Given the description of an element on the screen output the (x, y) to click on. 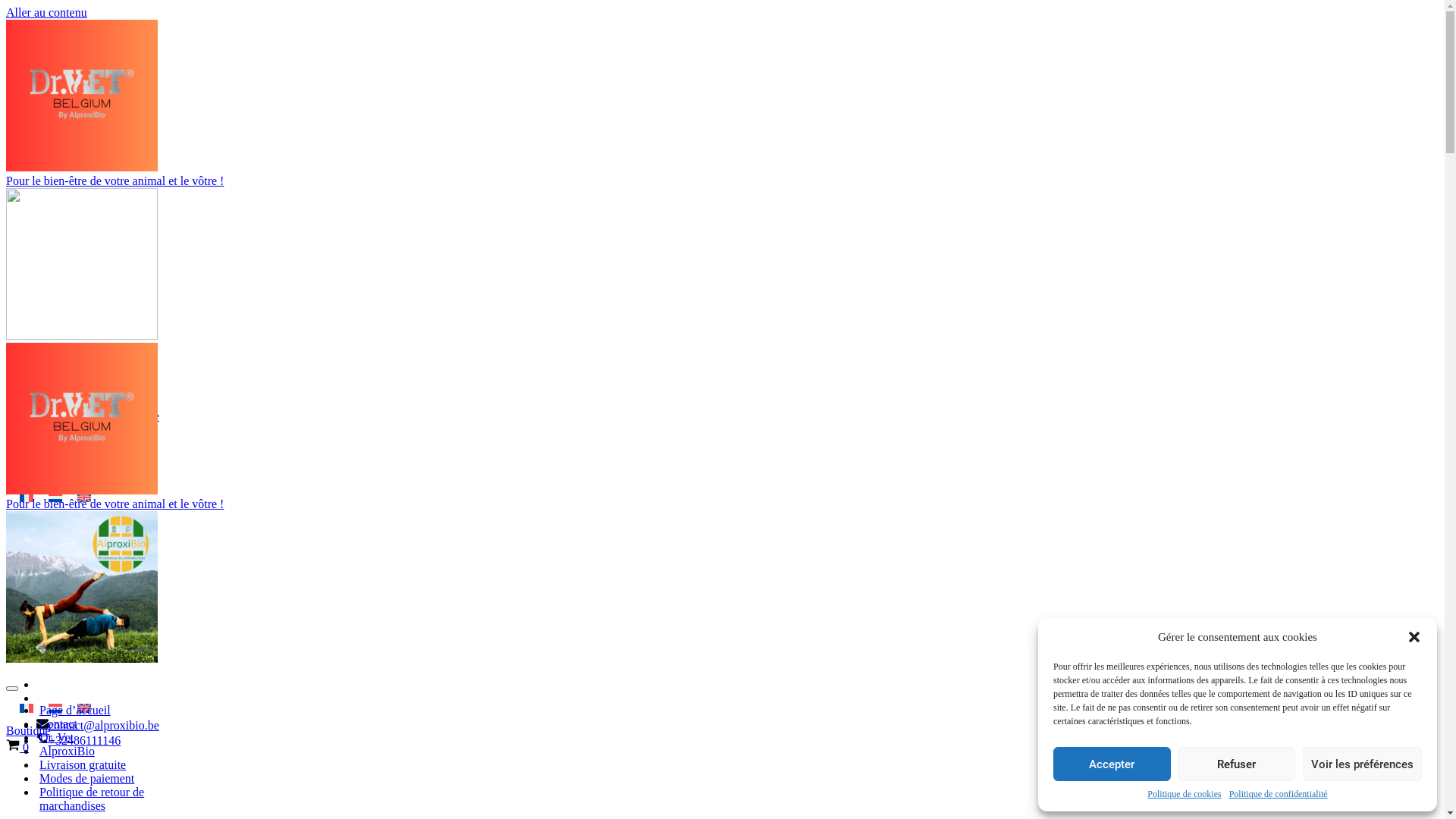
Politique de retour de marchandises Element type: text (129, 798)
Politique de cookies Element type: text (1183, 794)
Aller au contenu Element type: text (46, 12)
+32486111146 Element type: text (84, 430)
Accepter Element type: text (1111, 763)
Dr. Vet Element type: text (129, 737)
contact@alproxibio.be Element type: text (103, 415)
AlproxiBio Element type: text (129, 751)
+32486111146 Element type: text (84, 740)
0 Element type: text (17, 459)
Boutique Element type: text (28, 473)
Menu de navigation Element type: text (12, 353)
Refuser Element type: text (1236, 763)
Contact Element type: text (129, 724)
Modes de paiement Element type: text (129, 778)
0 Element type: text (17, 746)
Boutique Element type: text (28, 730)
Menu de navigation Element type: text (12, 688)
contact@alproxibio.be Element type: text (103, 724)
Livraison gratuite Element type: text (129, 764)
